Given the description of an element on the screen output the (x, y) to click on. 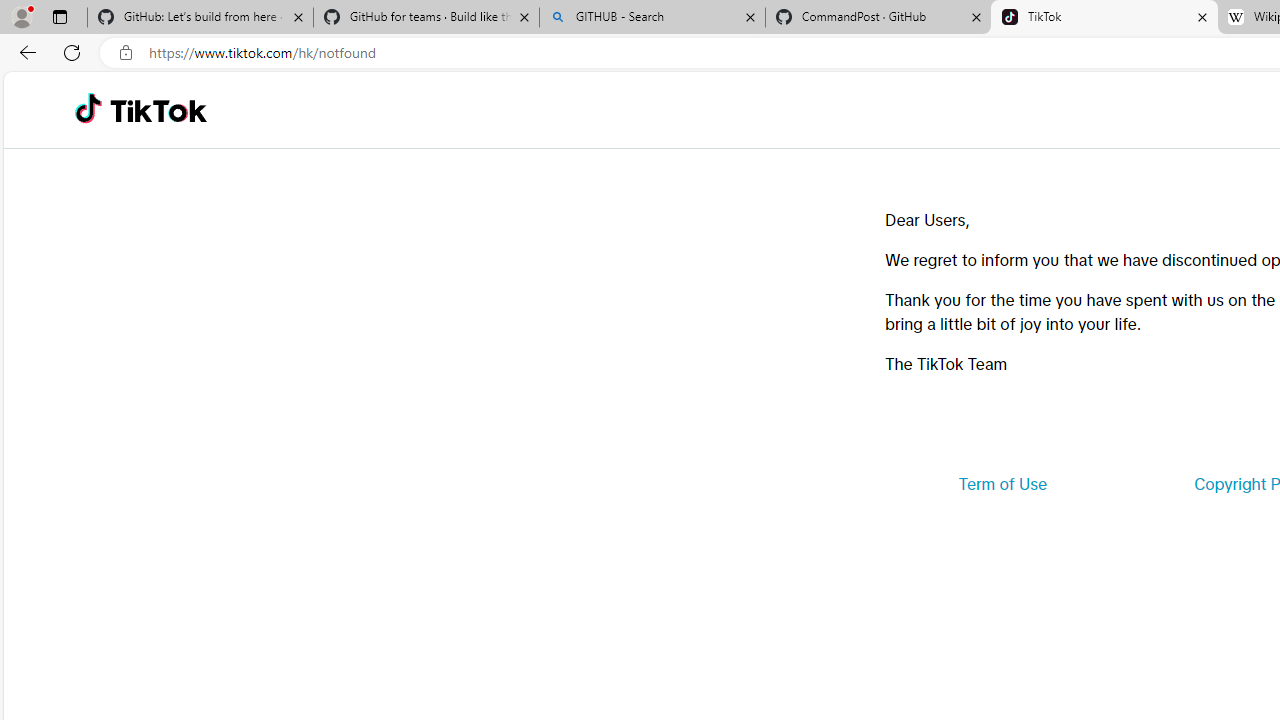
TikTok (1104, 17)
Term of Use (1002, 484)
TikTok (158, 110)
GITHUB - Search (652, 17)
